Given the description of an element on the screen output the (x, y) to click on. 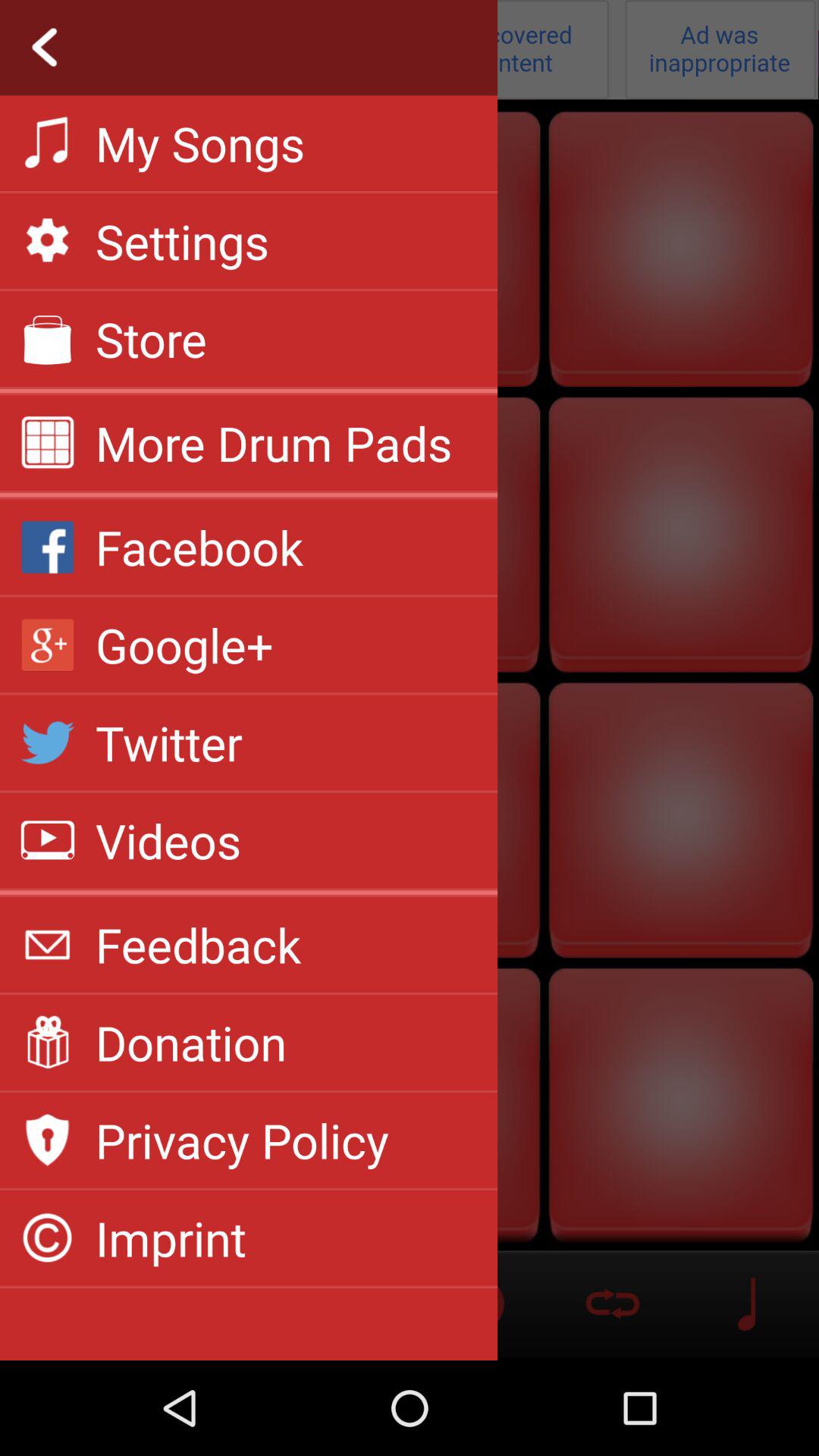
press app below the twitter app (168, 840)
